Given the description of an element on the screen output the (x, y) to click on. 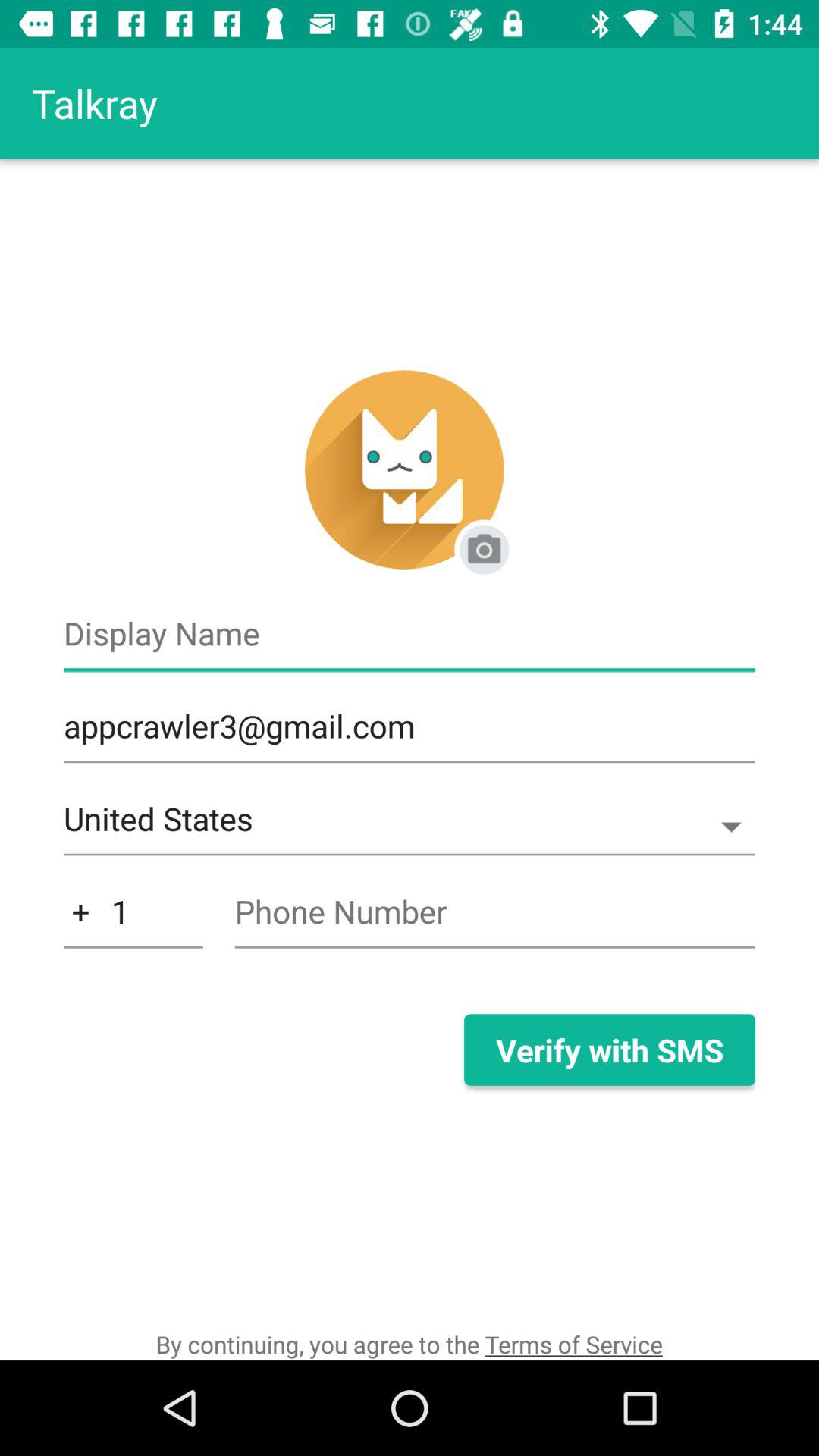
turn off the appcrawler3@gmail.com icon (409, 734)
